Given the description of an element on the screen output the (x, y) to click on. 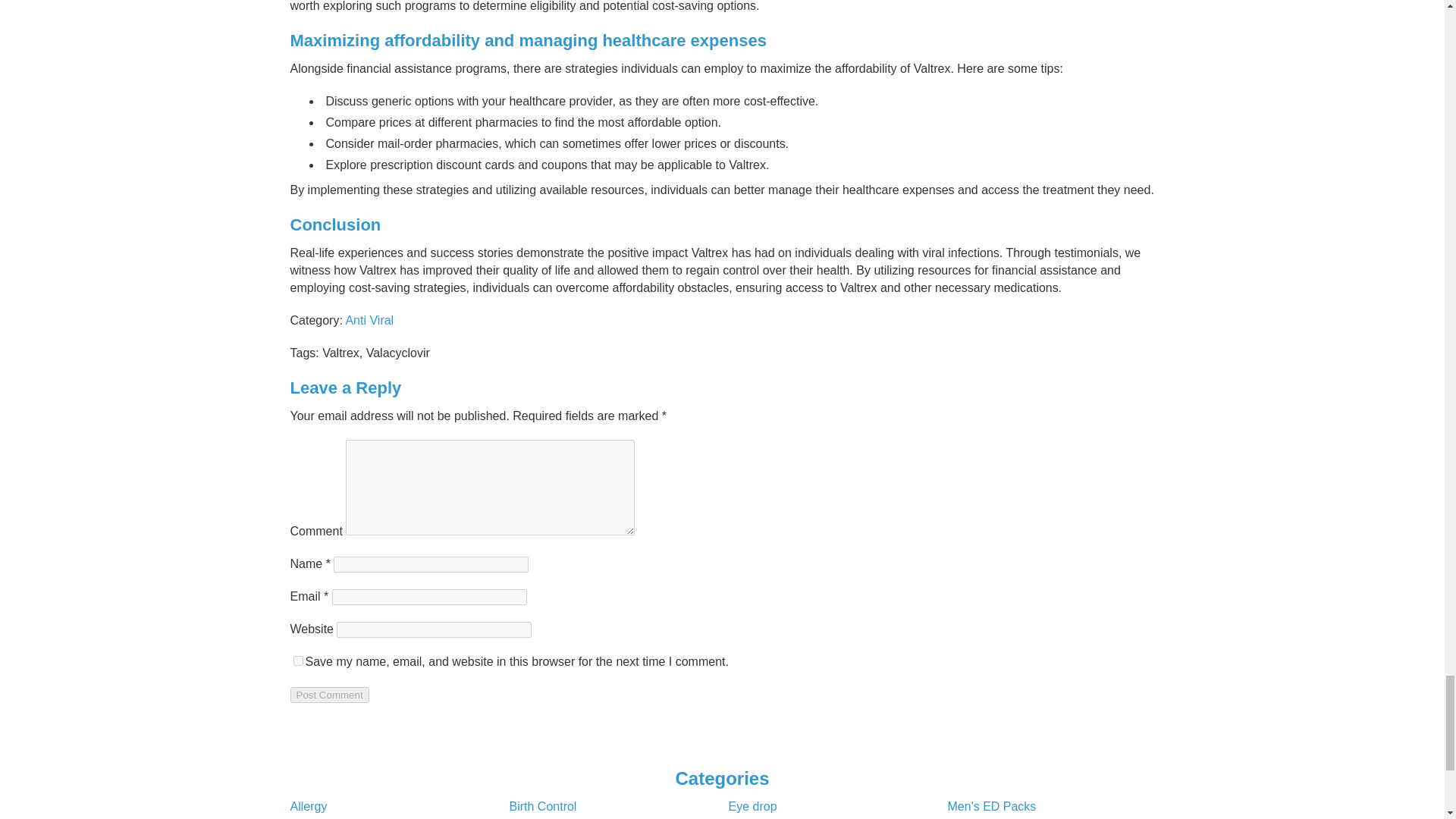
Post Comment (328, 694)
Blood Pressure (550, 818)
Anti Fungal (319, 818)
Post Comment (328, 694)
yes (297, 660)
Anti Viral (369, 319)
Allergy (307, 806)
Birth Control (542, 806)
